Given the description of an element on the screen output the (x, y) to click on. 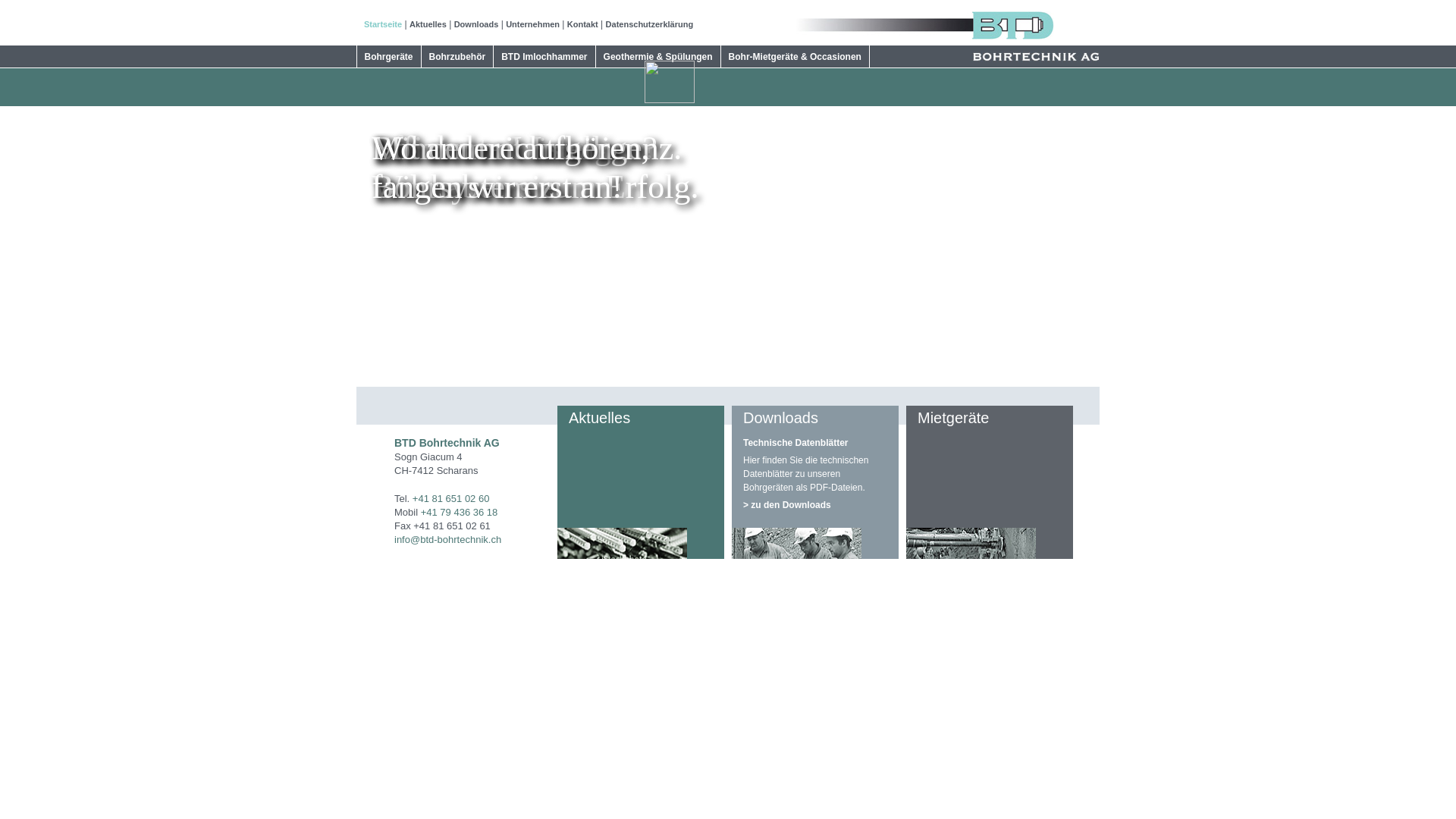
Aktuelles Element type: text (427, 23)
> zu den Downloads Element type: text (815, 502)
+41 81 651 02 60 Element type: text (450, 498)
info@btd-bohrtechnik.ch Element type: text (447, 539)
Startseite Element type: text (382, 23)
Downloads Element type: text (476, 23)
Kontakt Element type: text (582, 23)
Unternehmen Element type: text (532, 23)
+41 79 436 36 18 Element type: text (459, 511)
BTD Imlochhammer Element type: text (543, 56)
